Given the description of an element on the screen output the (x, y) to click on. 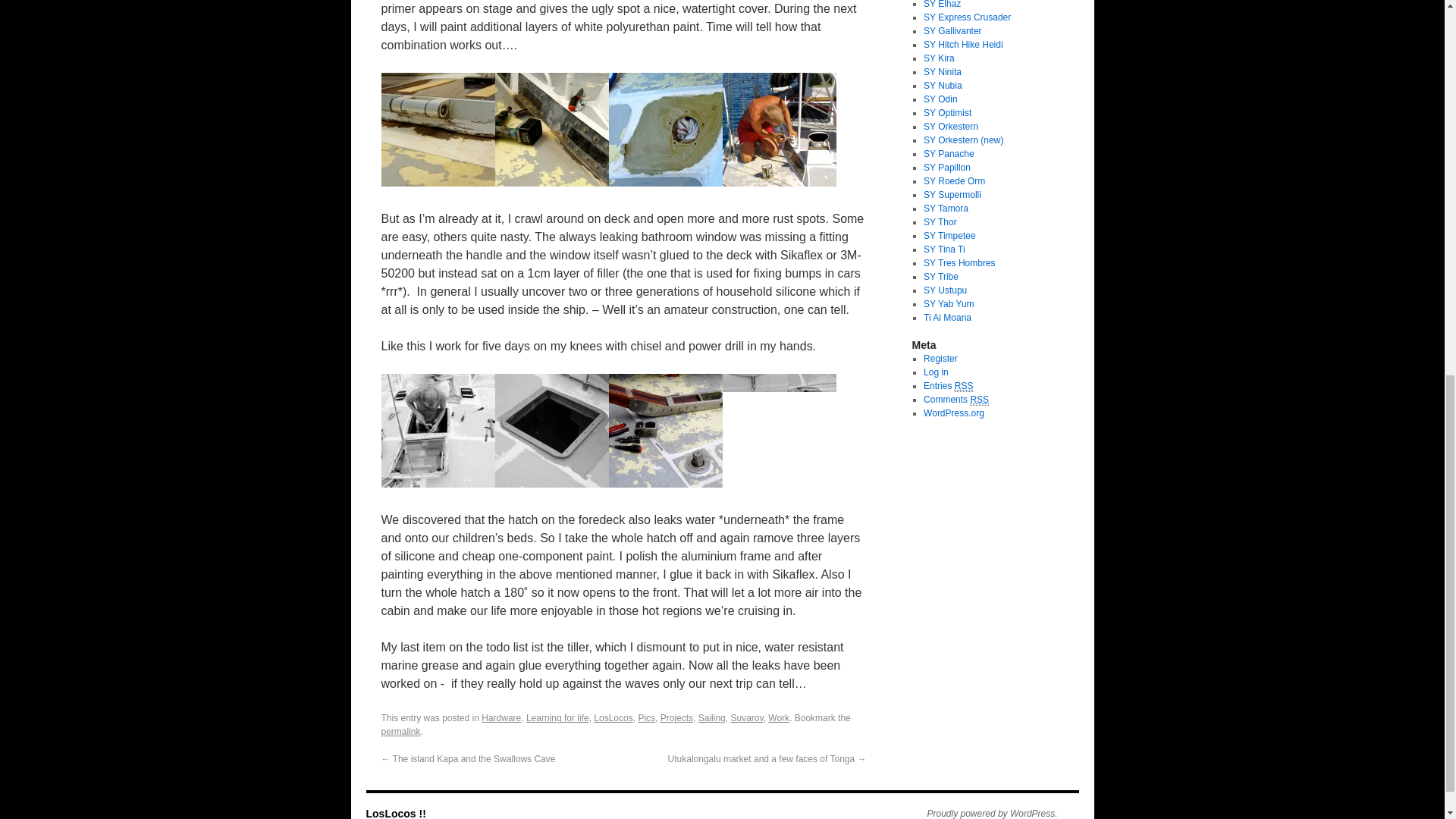
View all posts in LosLocos (612, 717)
LosLocos (612, 717)
View all posts in Learning for life (557, 717)
View all posts in Hardware (501, 717)
Permalink to Having fun in the anchorage (400, 731)
Learning for life (557, 717)
View all posts in Suvarov (746, 717)
Pics (646, 717)
Sailing (711, 717)
Work (778, 717)
View all posts in Pics (646, 717)
View all posts in Sailing (711, 717)
Suvarov (746, 717)
permalink (400, 731)
View all posts in Work (778, 717)
